Given the description of an element on the screen output the (x, y) to click on. 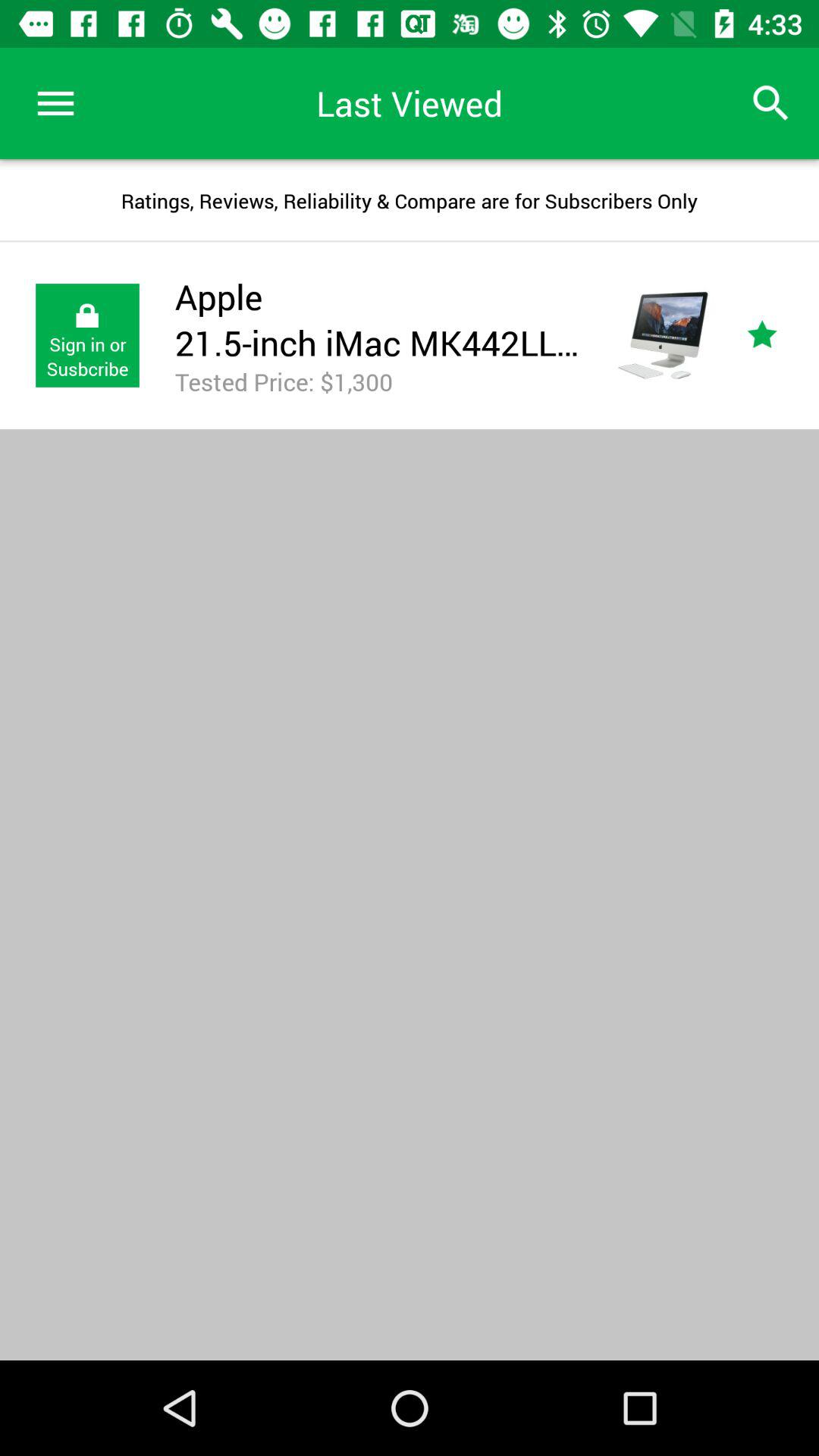
choose favourite symbol (779, 335)
